Given the description of an element on the screen output the (x, y) to click on. 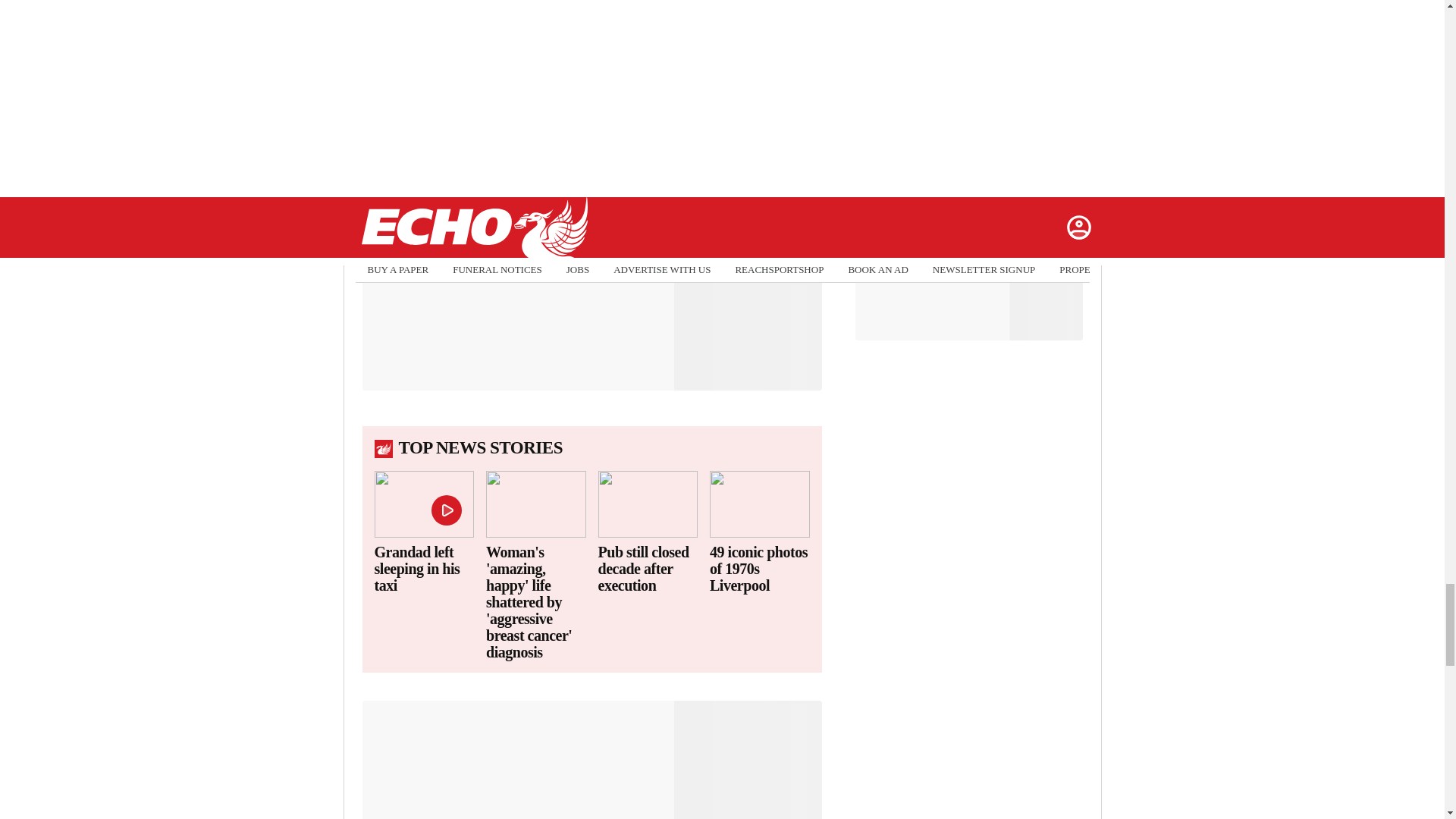
Grandad left sleeping in his taxi (424, 568)
49 iconic photos of 1970s Liverpool (759, 568)
Pub still closed decade after execution (646, 568)
